Given the description of an element on the screen output the (x, y) to click on. 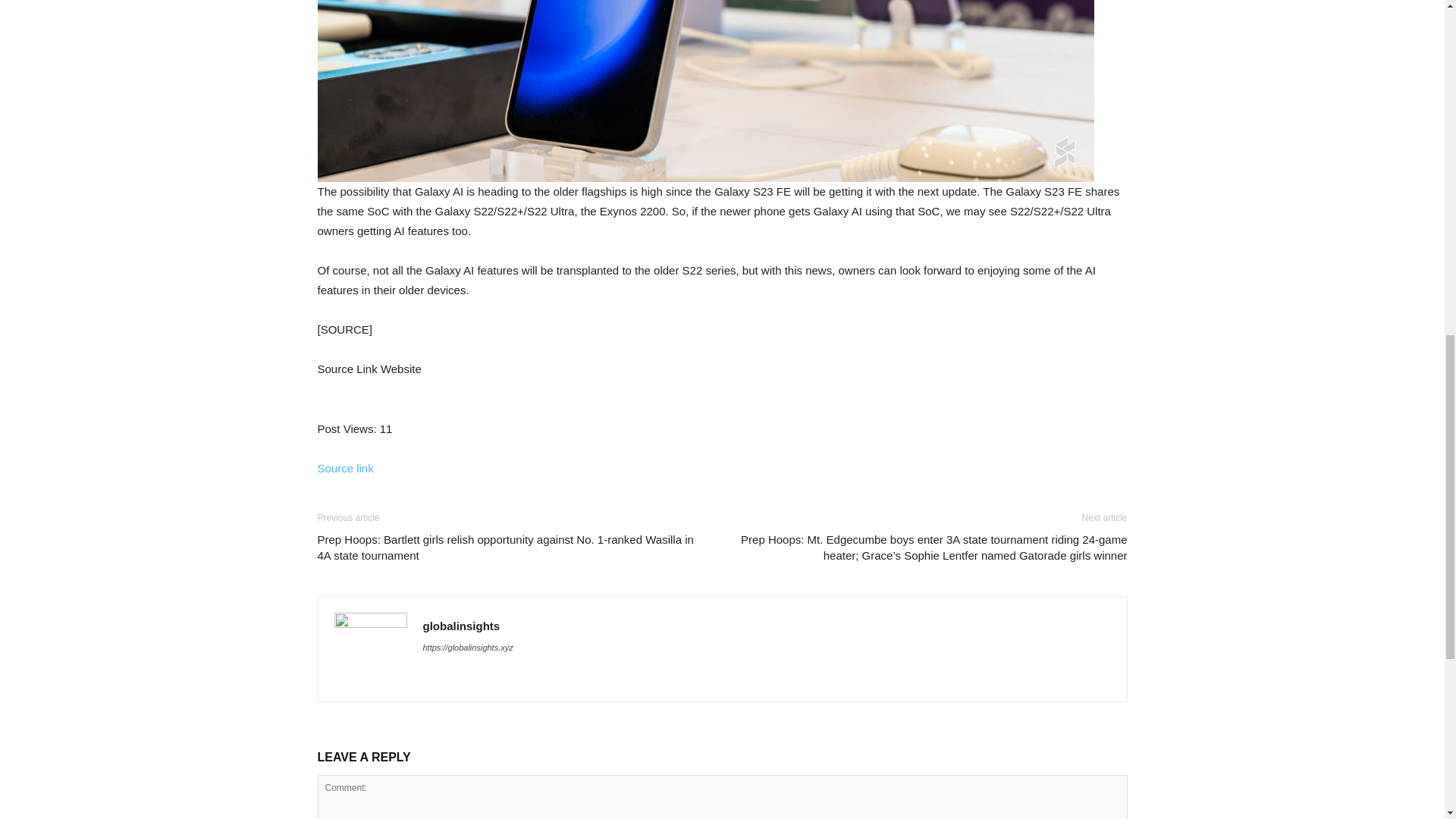
Source link (344, 468)
globalinsights (461, 625)
